Given the description of an element on the screen output the (x, y) to click on. 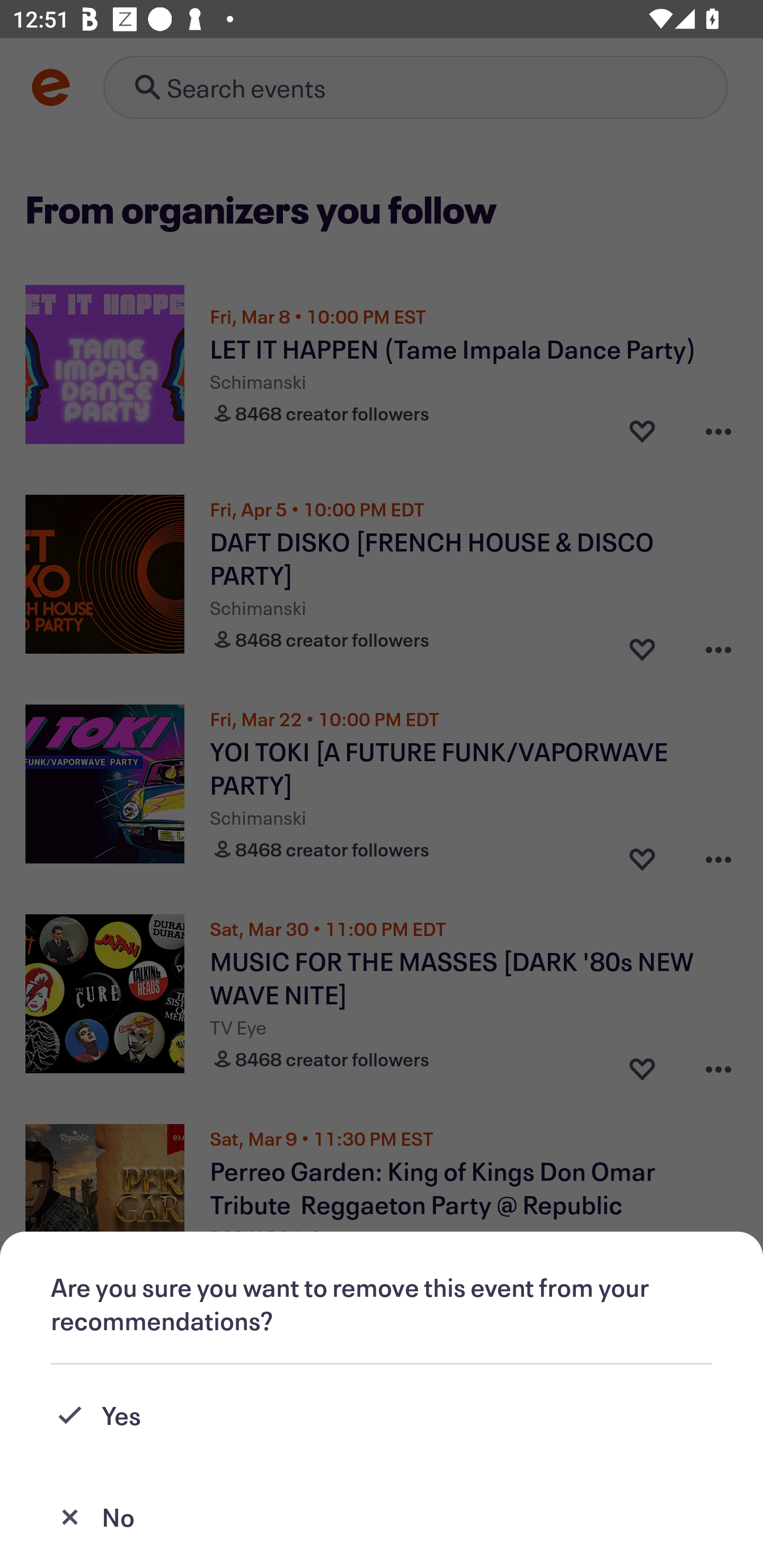
Yes (381, 1415)
No (381, 1517)
